Given the description of an element on the screen output the (x, y) to click on. 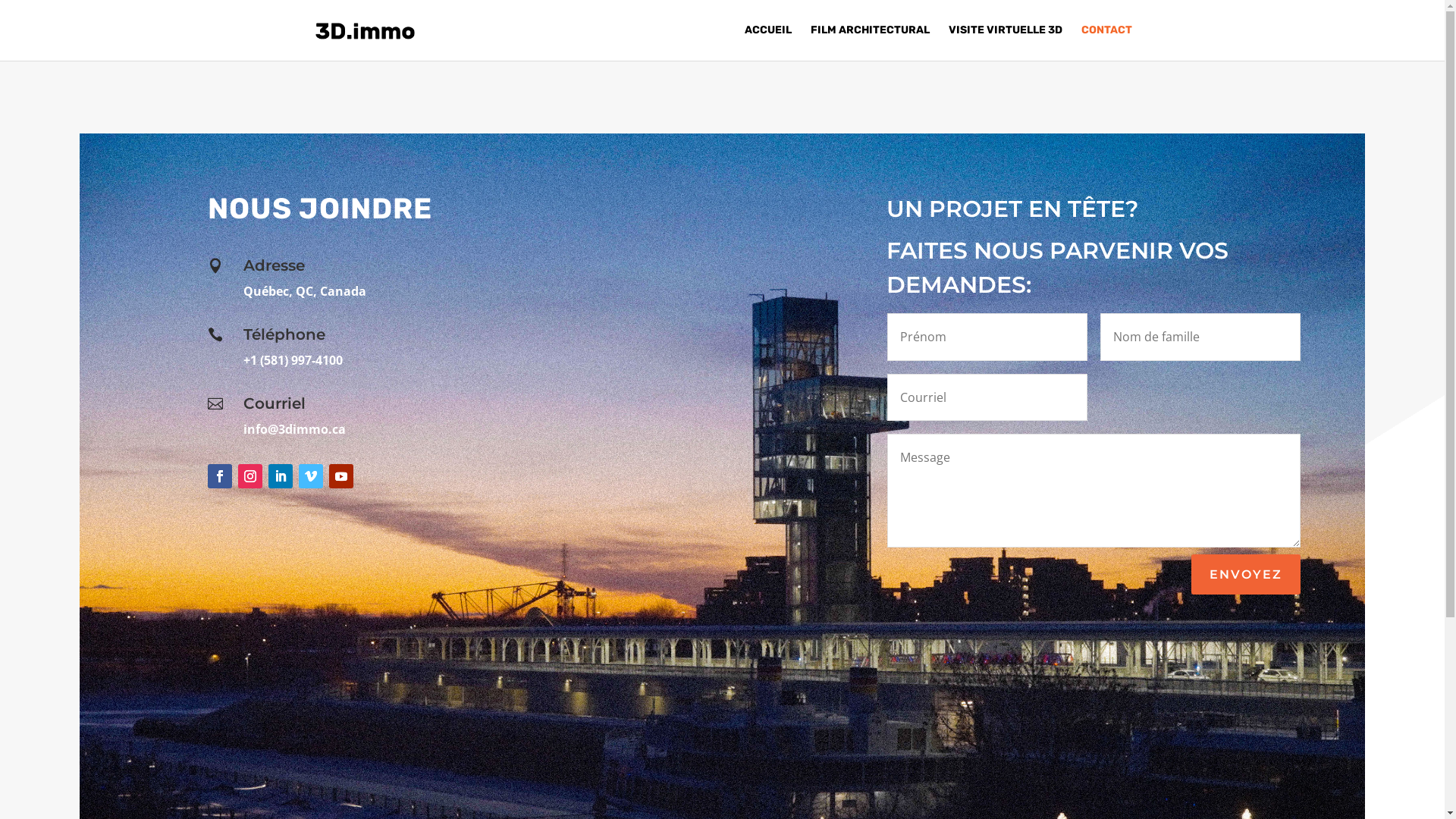
ACCUEIL Element type: text (767, 42)
Follow on LinkedIn Element type: hover (280, 476)
VISITE VIRTUELLE 3D Element type: text (1004, 42)
Follow on Vimeo Element type: hover (310, 476)
Follow on Instagram Element type: hover (250, 476)
Follow on Youtube Element type: hover (341, 476)
Follow on Facebook Element type: hover (219, 476)
ENVOYEZ Element type: text (1245, 574)
FILM ARCHITECTURAL Element type: text (868, 42)
CONTACT Element type: text (1106, 42)
